Given the description of an element on the screen output the (x, y) to click on. 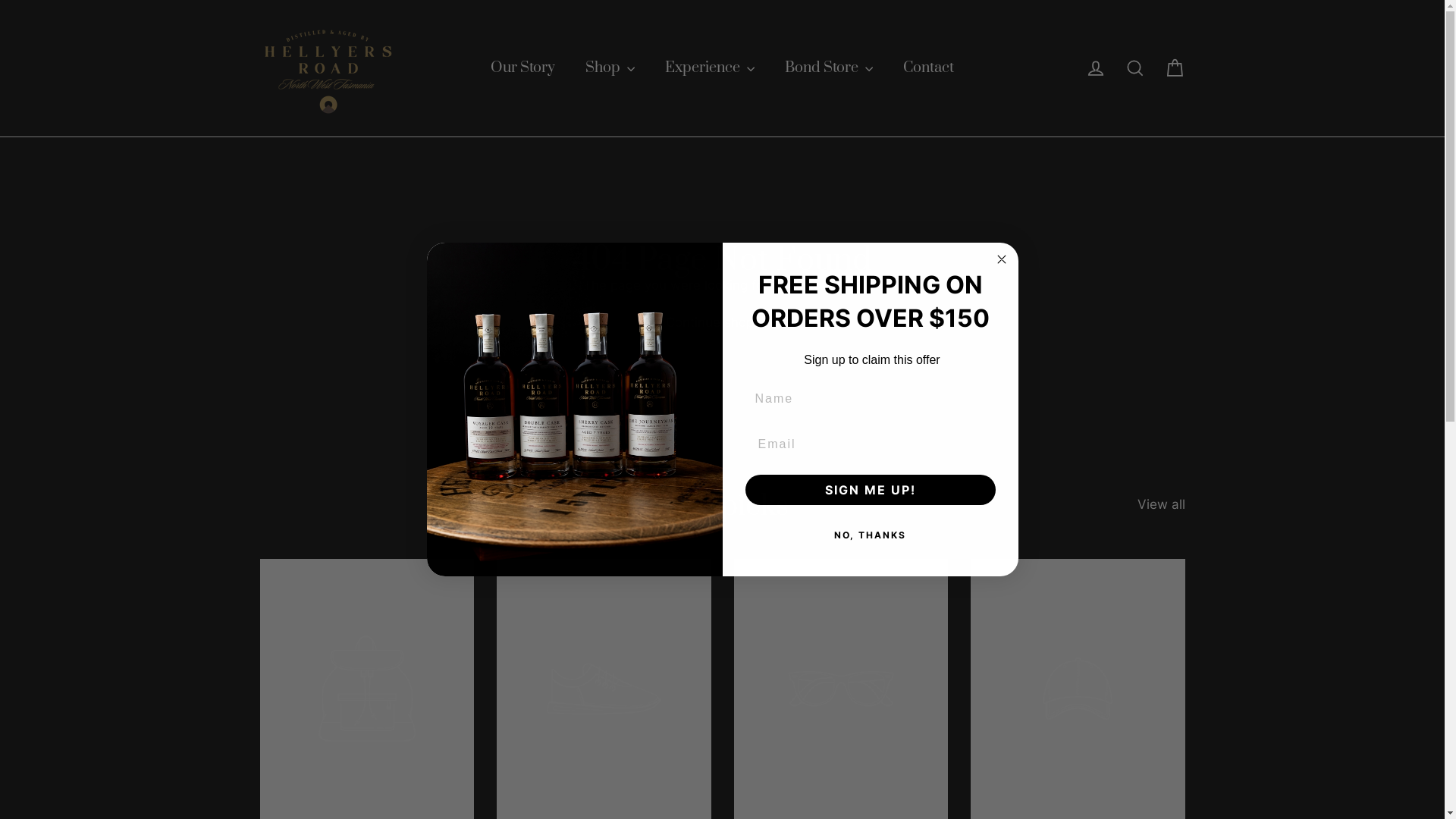
View all Element type: text (1161, 502)
SIGN ME UP! Element type: text (869, 489)
Our Story Element type: text (522, 68)
Contact Element type: text (928, 68)
Continue shopping Element type: text (722, 322)
NO, THANKS Element type: text (869, 535)
icon-search
Search Element type: text (1134, 68)
account
Log in Element type: text (1094, 68)
Submit Element type: text (29, 15)
Cart Element type: text (1173, 68)
